Given the description of an element on the screen output the (x, y) to click on. 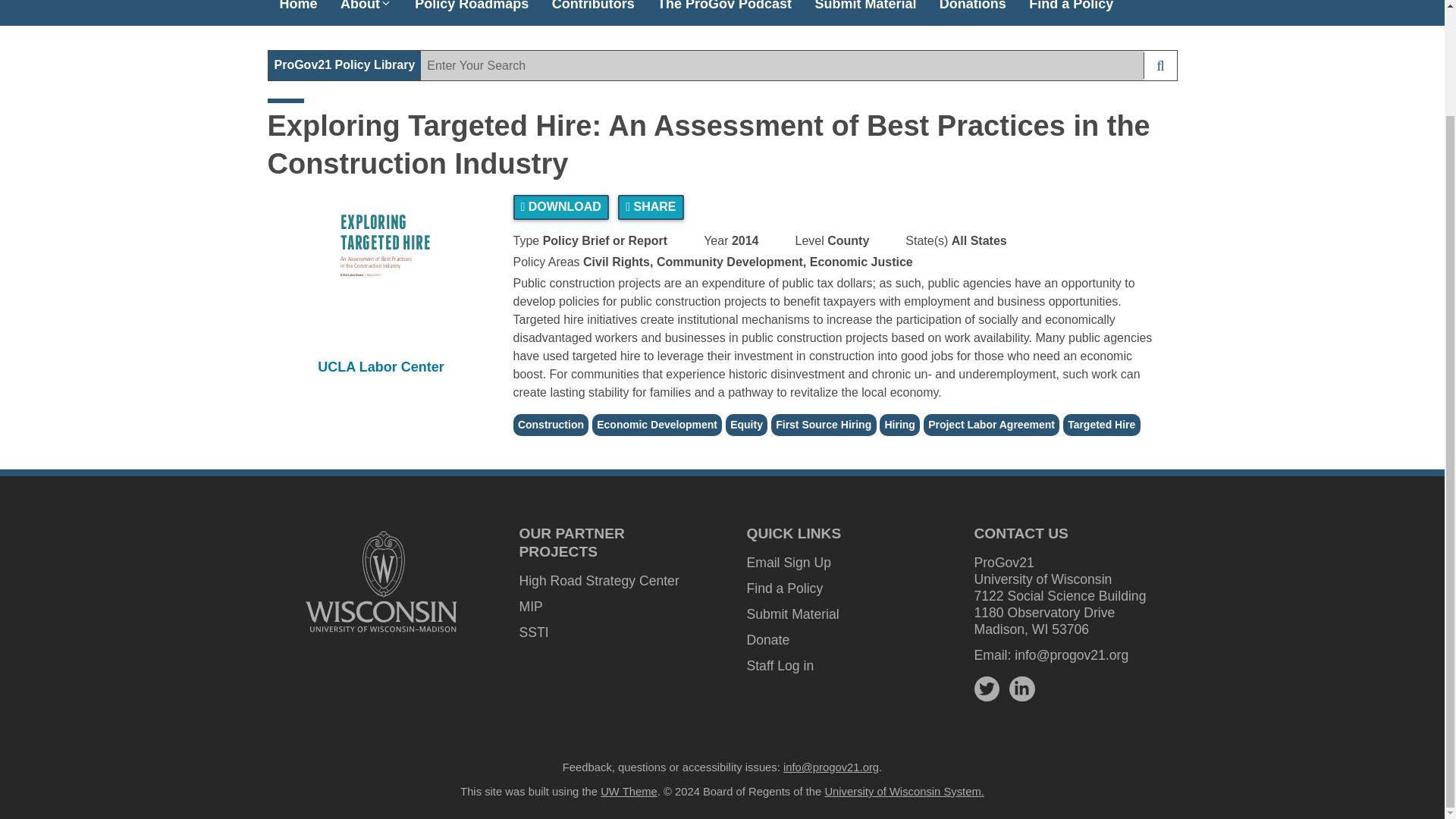
UW Theme (628, 791)
twitter (986, 688)
Find a Policy (783, 588)
twitter (986, 688)
SHARE (649, 207)
AboutExpand (365, 7)
Home (298, 7)
High Road Strategy Center (598, 580)
Economic Development (656, 424)
Contributors (592, 7)
